Given the description of an element on the screen output the (x, y) to click on. 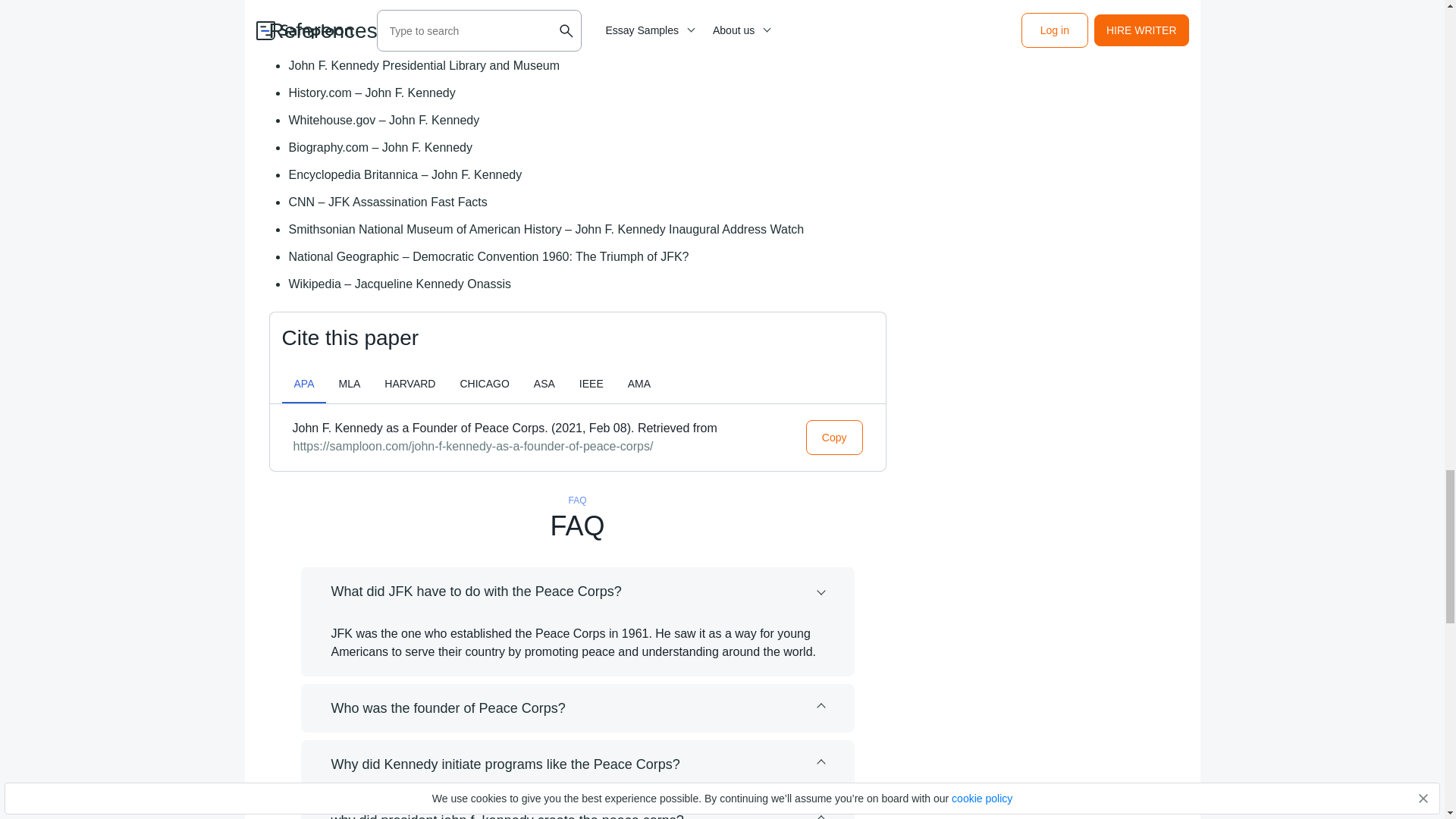
John F. Kennedy Presidential Library and Museum (424, 65)
